Given the description of an element on the screen output the (x, y) to click on. 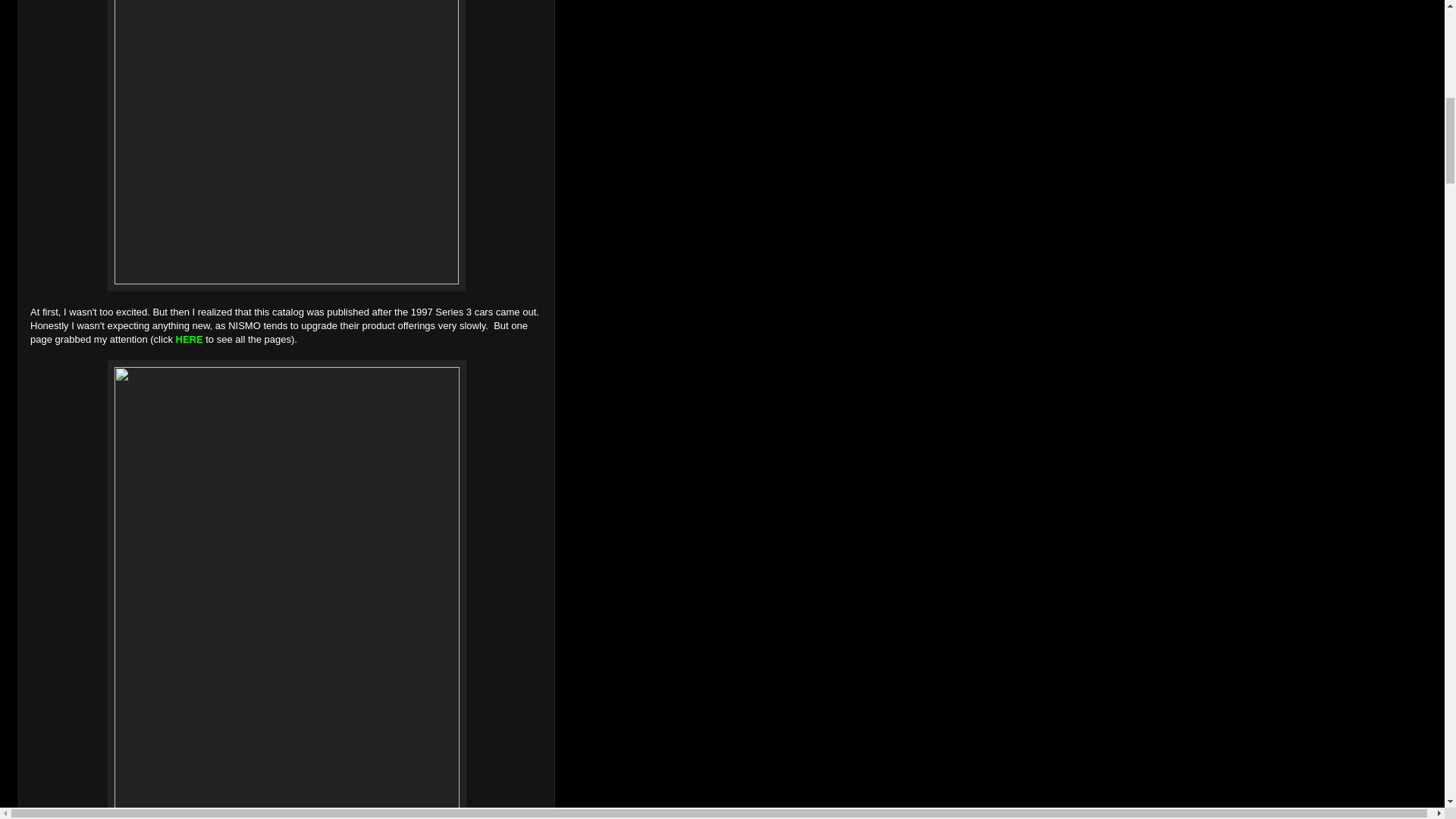
HERE (189, 338)
